Given the description of an element on the screen output the (x, y) to click on. 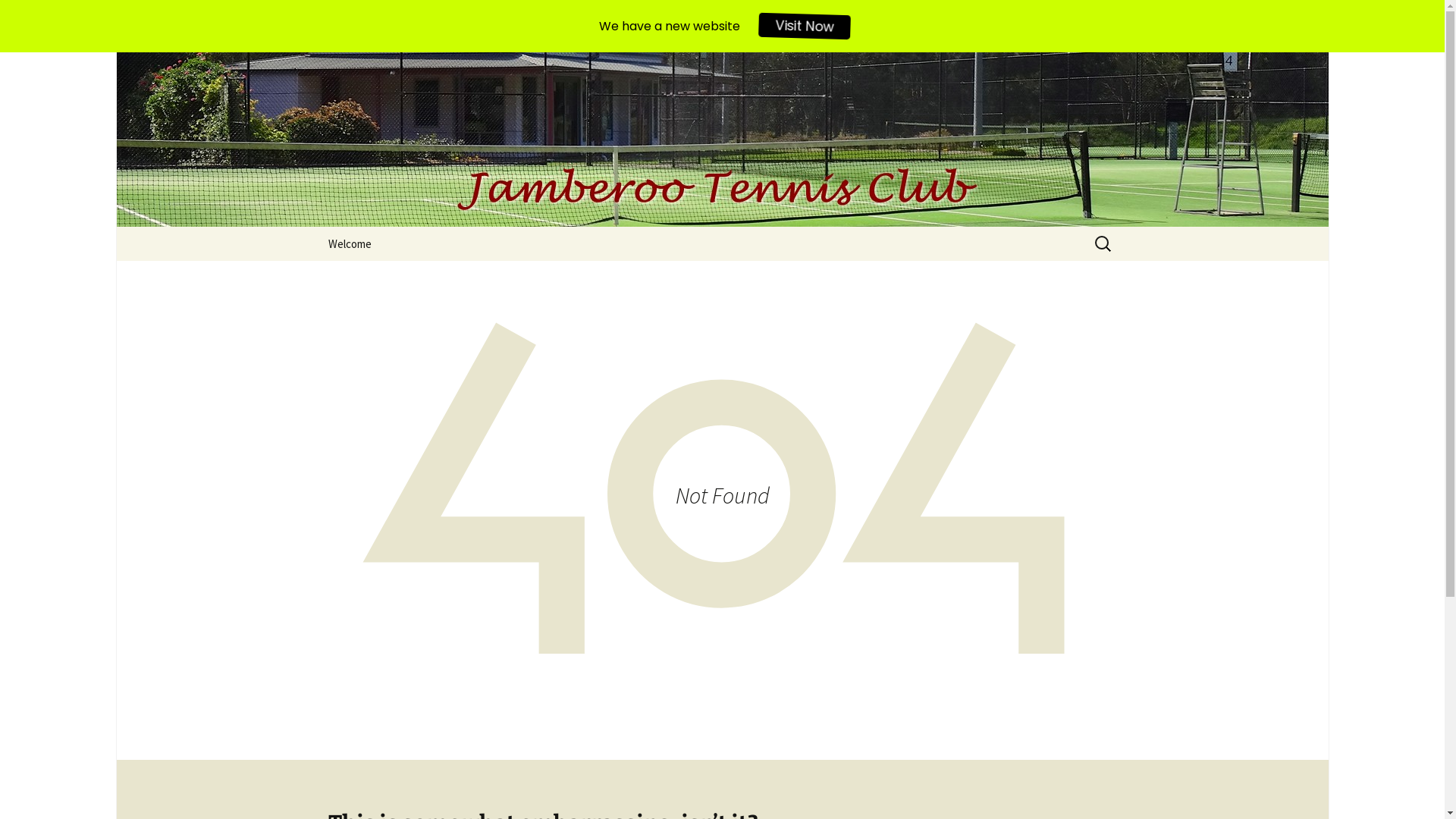
Search Element type: text (18, 16)
Welcome Element type: text (348, 243)
Search Element type: text (35, 16)
Skip to content Element type: text (312, 226)
Visit Now Element type: text (807, 25)
Search Element type: text (34, 15)
Jamberoo Tennis Club
Jamberoo, Australia Element type: text (721, 139)
